Given the description of an element on the screen output the (x, y) to click on. 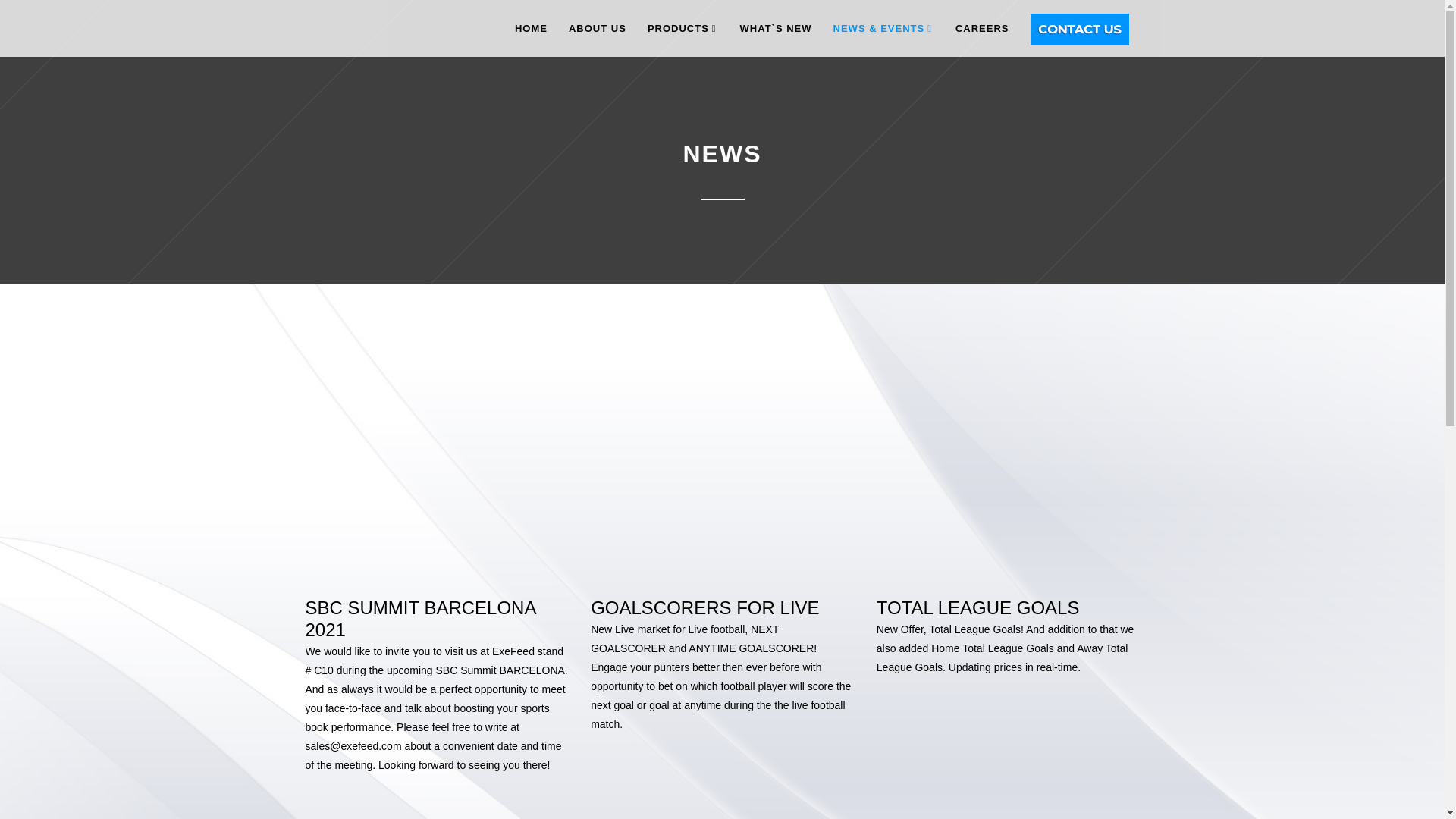
PRODUCTS (683, 28)
CAREERS (982, 28)
ABOUT US (597, 28)
